Given the description of an element on the screen output the (x, y) to click on. 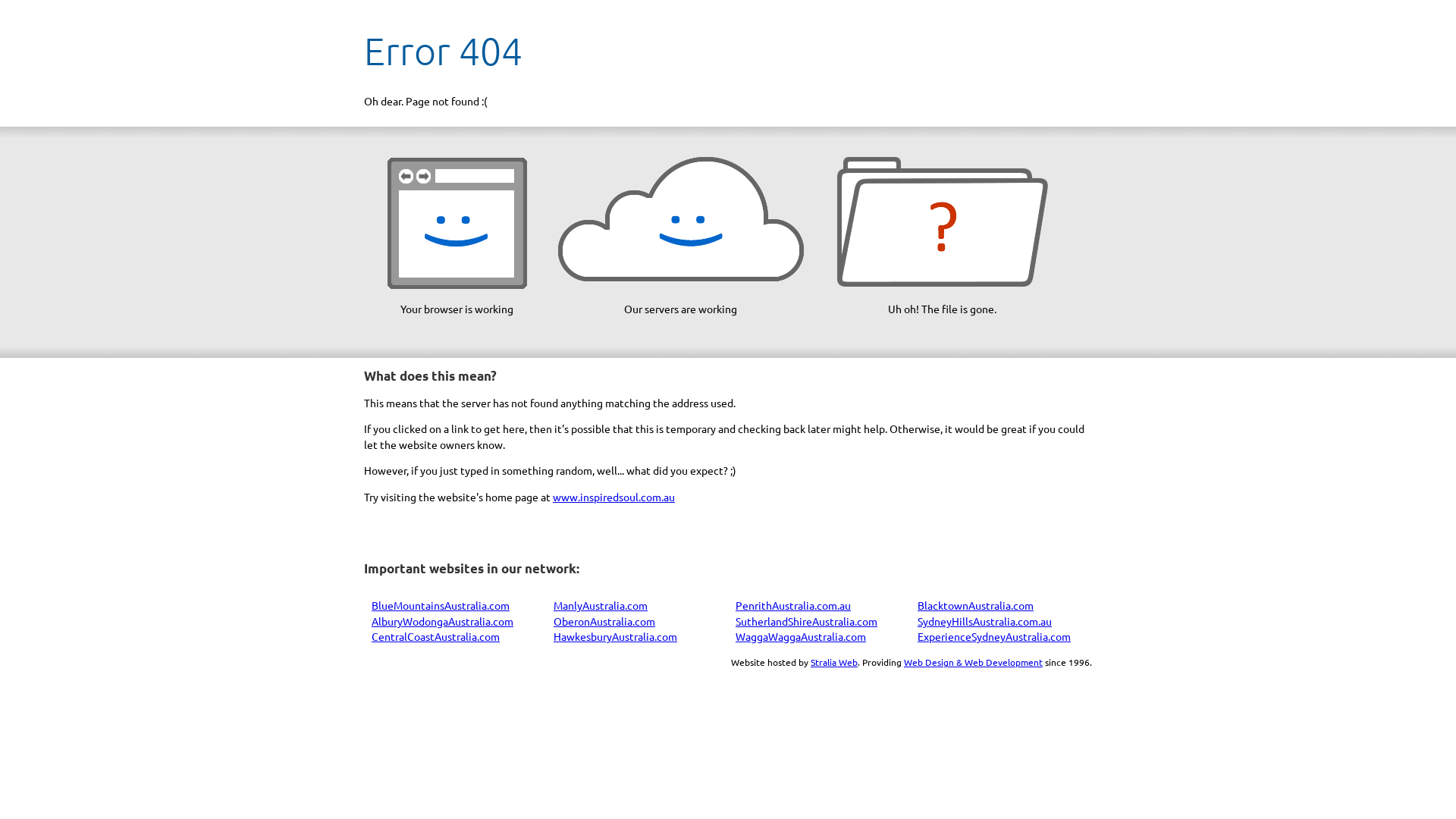
ExperienceSydneyAustralia.com Element type: text (993, 636)
OberonAustralia.com Element type: text (604, 620)
BlacktownAustralia.com Element type: text (975, 604)
ManlyAustralia.com Element type: text (600, 604)
PenrithAustralia.com.au Element type: text (792, 604)
CentralCoastAustralia.com Element type: text (435, 636)
WaggaWaggaAustralia.com Element type: text (800, 636)
Web Design & Web Development Element type: text (972, 661)
AlburyWodongaAustralia.com Element type: text (442, 620)
SydneyHillsAustralia.com.au Element type: text (984, 620)
Stralia Web Element type: text (833, 661)
BlueMountainsAustralia.com Element type: text (440, 604)
SutherlandShireAustralia.com Element type: text (806, 620)
HawkesburyAustralia.com Element type: text (615, 636)
www.inspiredsoul.com.au Element type: text (613, 496)
